Given the description of an element on the screen output the (x, y) to click on. 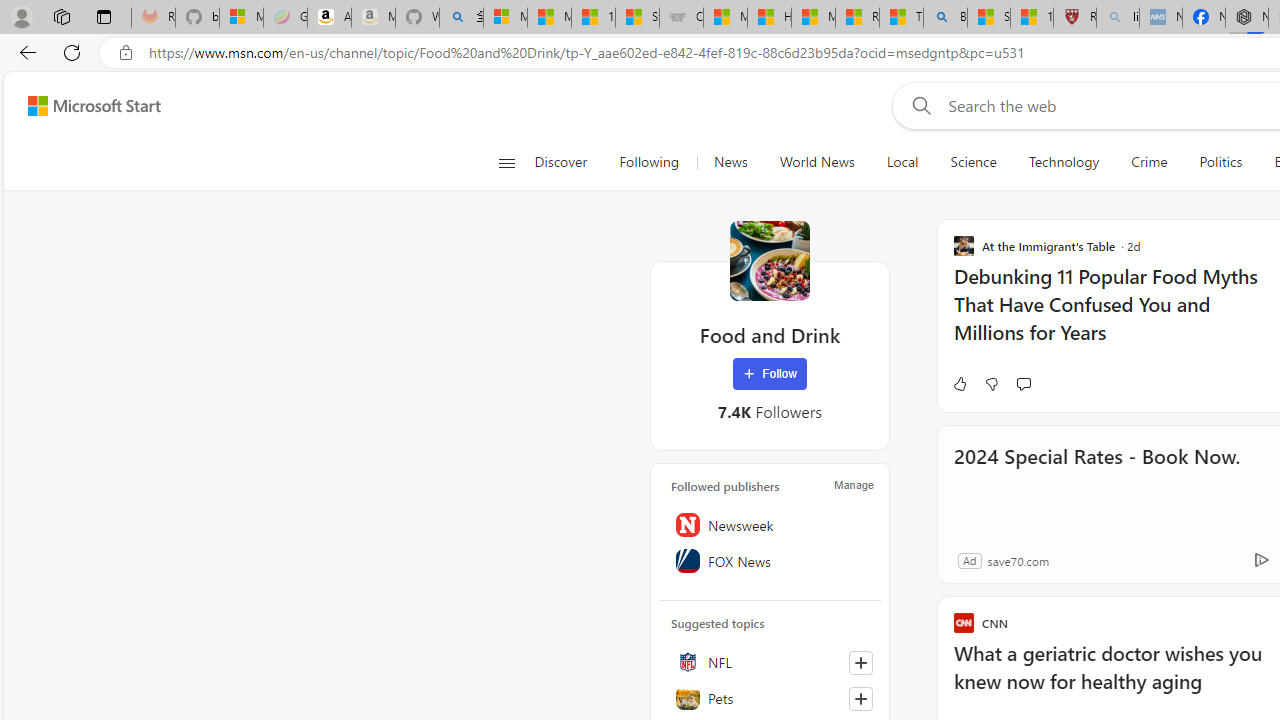
Pets (770, 697)
NFL (770, 661)
Follow this topic (860, 698)
Follow this topic (860, 698)
Follow (769, 373)
